Given the description of an element on the screen output the (x, y) to click on. 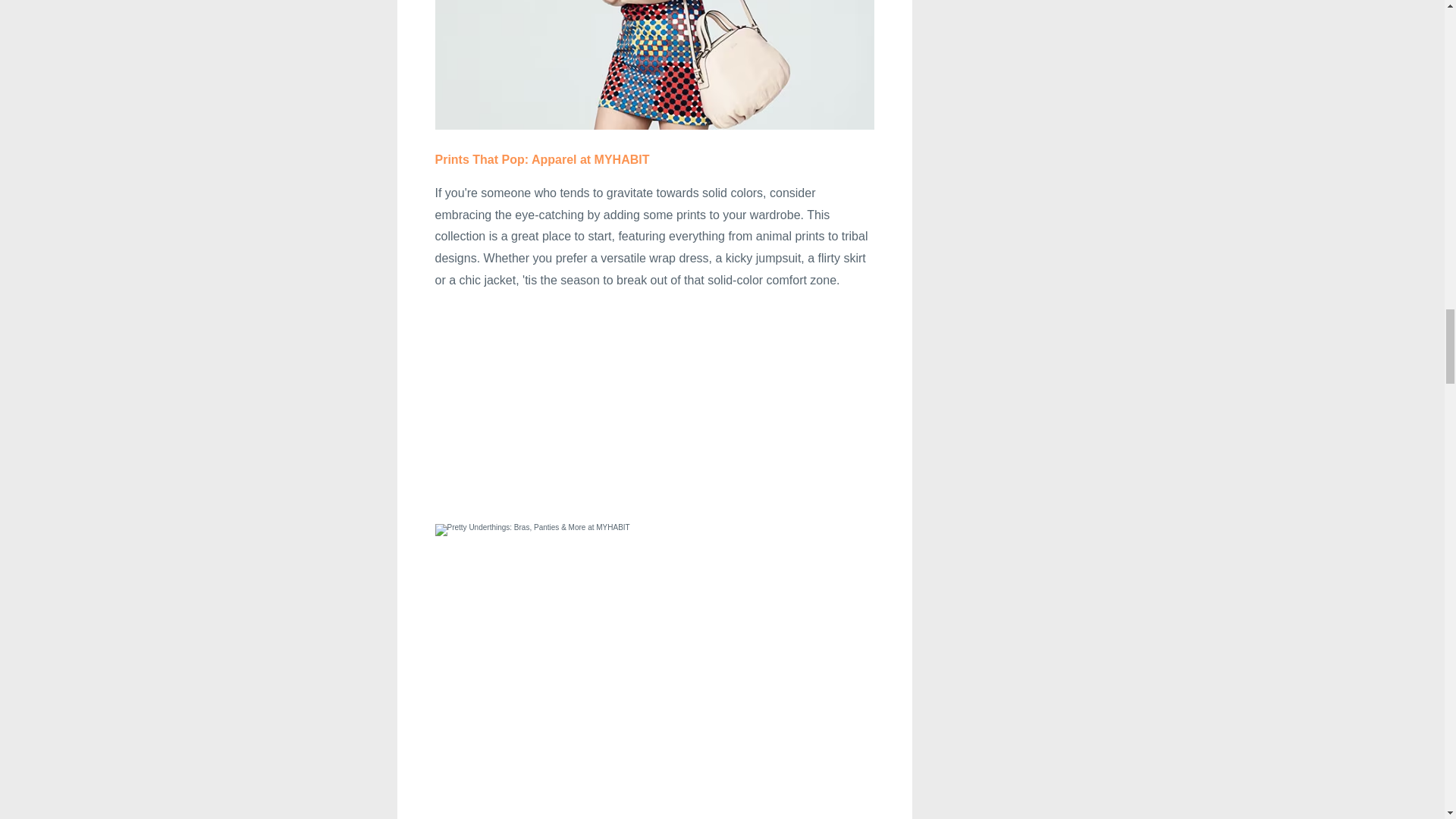
Prints That Pop: Apparel at MYHABIT (542, 159)
Prints That Pop: Apparel at MYHABIT (542, 159)
